Given the description of an element on the screen output the (x, y) to click on. 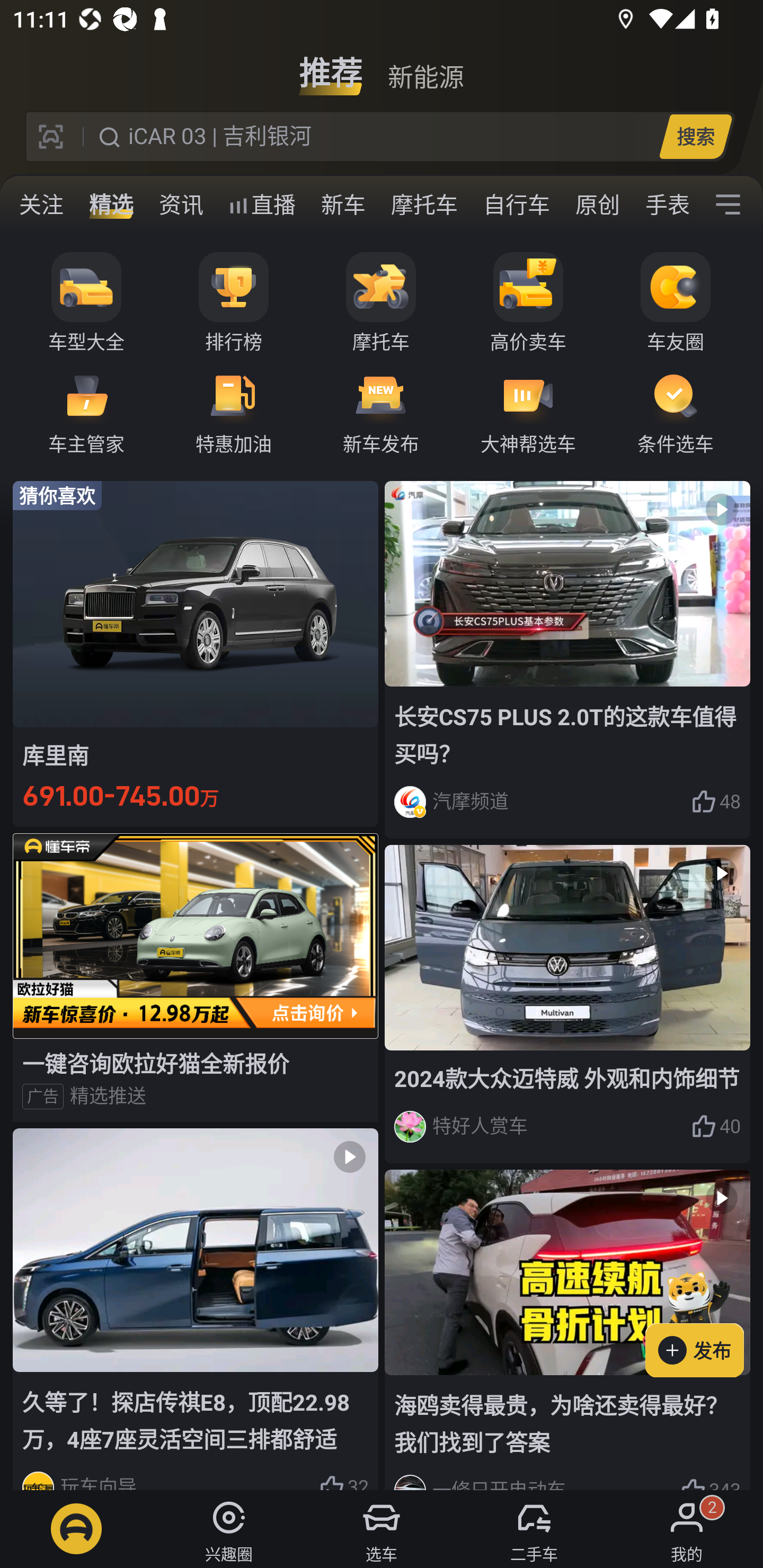
推荐 (330, 65)
新能源 (425, 65)
搜索 (695, 136)
关注 (41, 204)
精选 (111, 204)
资讯 (180, 204)
直播 (261, 204)
新车 (343, 204)
摩托车 (424, 204)
自行车 (516, 204)
原创 (597, 204)
手表 (663, 204)
 (727, 204)
车型大全 (86, 303)
排行榜 (233, 303)
摩托车 (380, 303)
高价卖车 (528, 303)
车友圈 (675, 303)
车主管家 (86, 411)
特惠加油 (233, 411)
新车发布 (380, 411)
大神帮选车 (528, 411)
条件选车 (675, 411)
猜你喜欢 库里南 691.00-745.00万 (195, 653)
 长安CS75 PLUS 2.0T的这款车值得买吗？ 汽摩频道 48 (567, 659)
48 (715, 801)
一键咨询欧拉好猫全新报价 广告 精选推送 (195, 977)
 2024款大众迈特威 外观和内饰细节 特好人赏车 40 (567, 1004)
40 (715, 1126)
 久等了！探店传祺E8，顶配22.98万，4座7座灵活空间三排都舒适 玩车向导 32 (195, 1308)
 海鸥卖得最贵，为啥还卖得最好？我们找到了答案 一修只开电动车 343 (567, 1329)
发布 (704, 1320)
 兴趣圈 (228, 1528)
 选车 (381, 1528)
 二手车 (533, 1528)
 我的 (686, 1528)
